Given the description of an element on the screen output the (x, y) to click on. 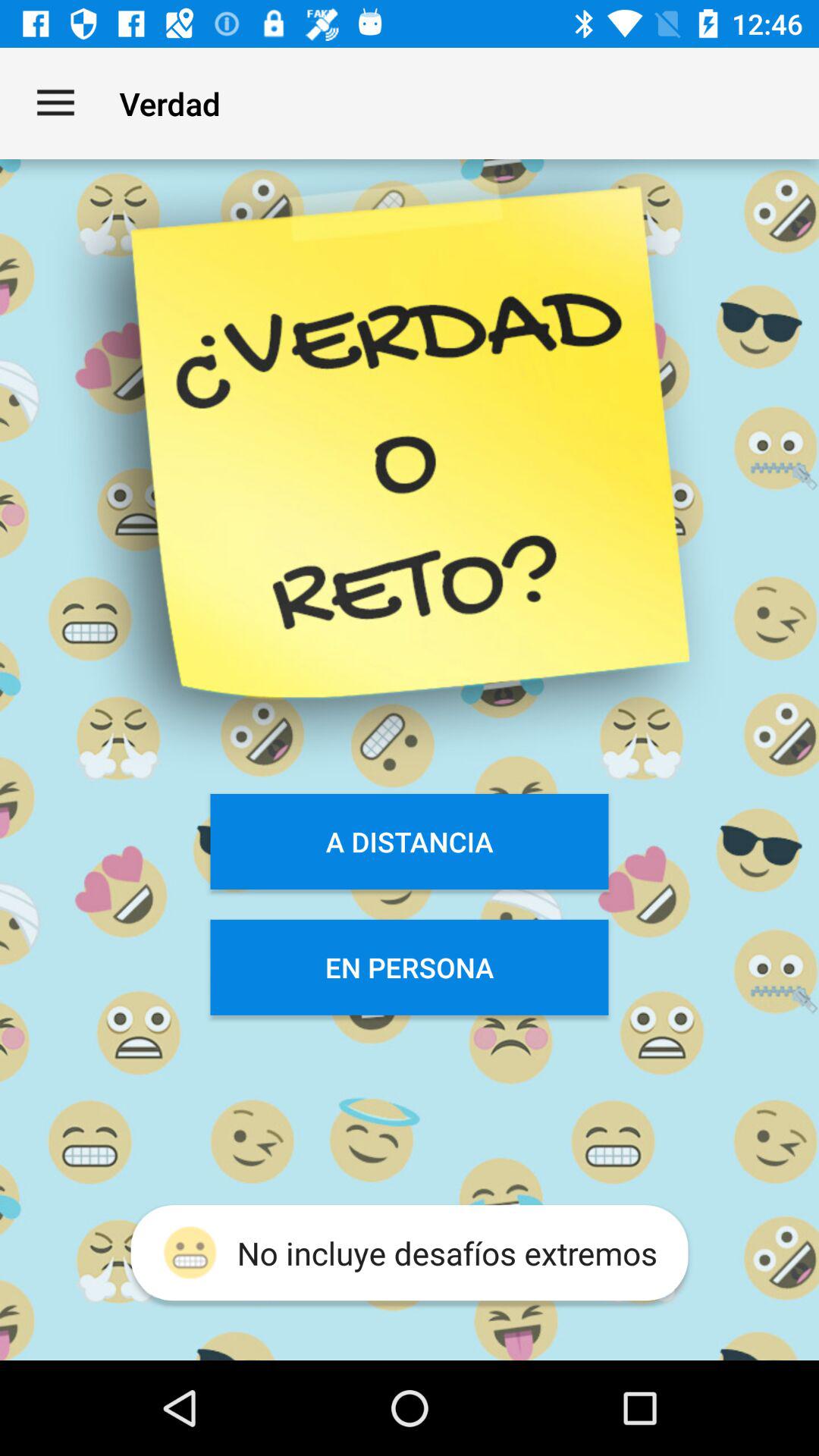
choose the item to the left of verdad (55, 103)
